Given the description of an element on the screen output the (x, y) to click on. 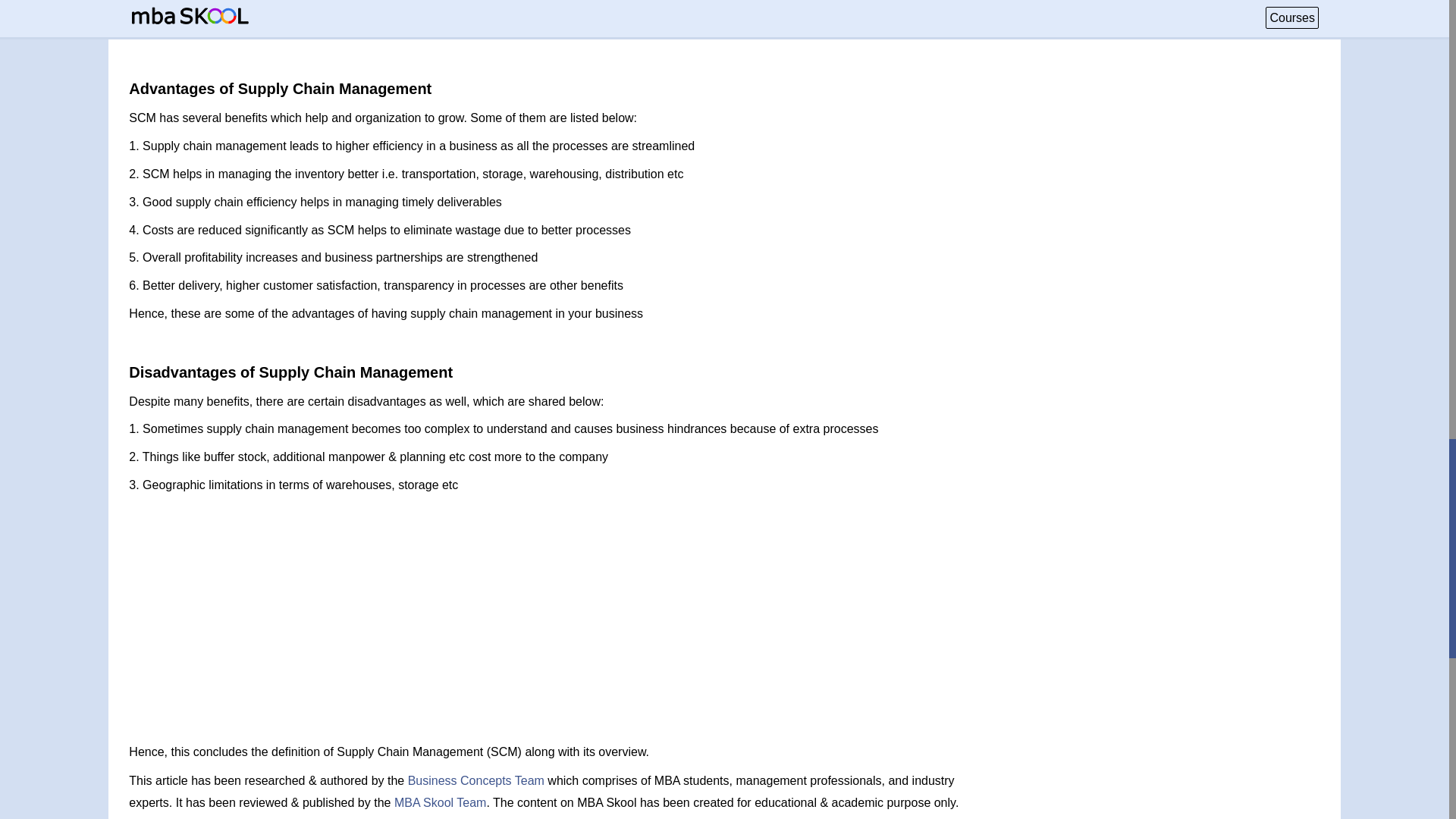
MBA Skool Team (440, 802)
Business Concepts Team (475, 780)
